Given the description of an element on the screen output the (x, y) to click on. 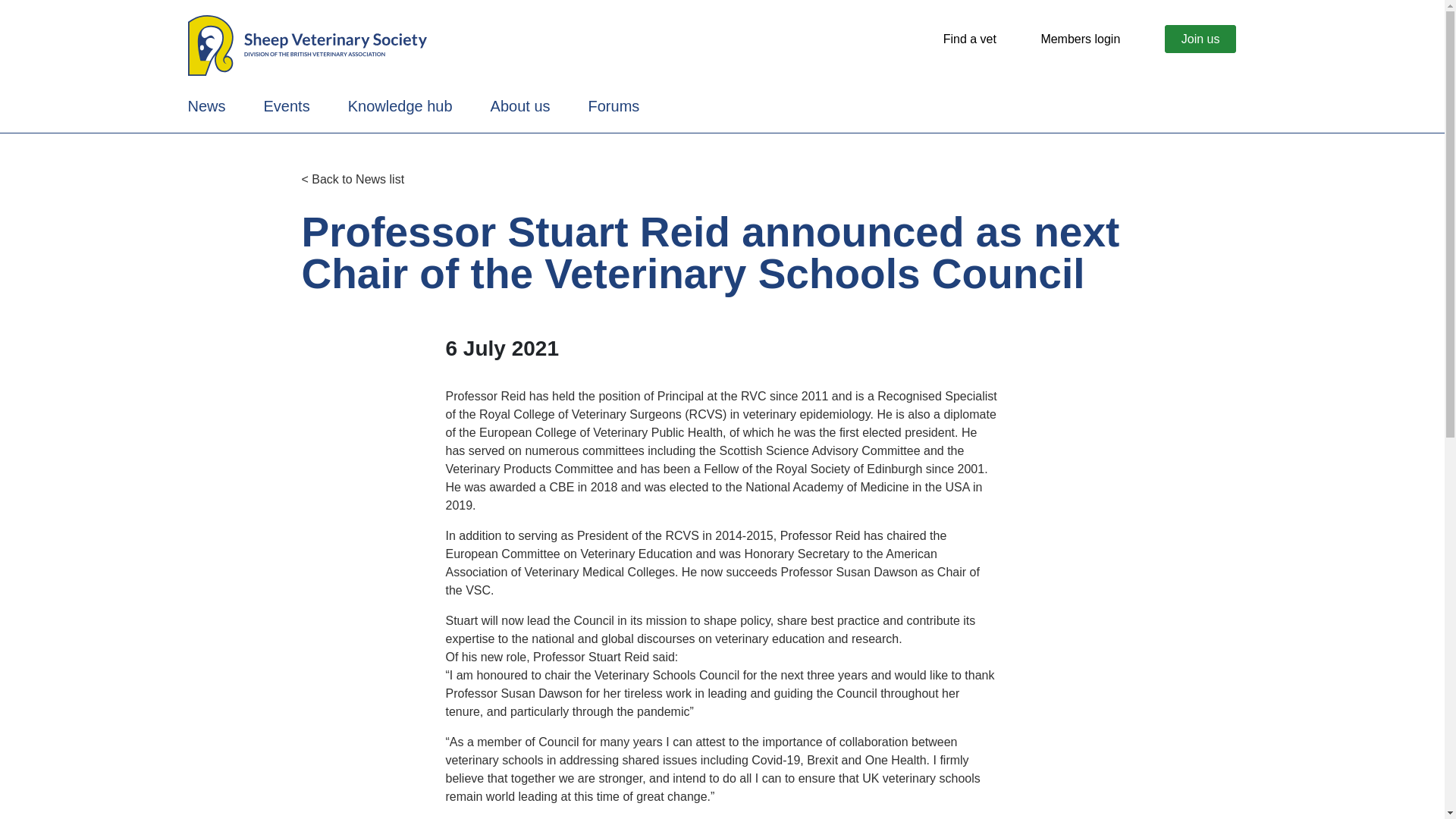
Forums (614, 105)
Join us (1200, 39)
About us (520, 105)
Knowledge hub (399, 105)
Go back to the home page (306, 44)
Members login (1080, 38)
Find a vet (969, 38)
News (206, 105)
Events (286, 105)
